Given the description of an element on the screen output the (x, y) to click on. 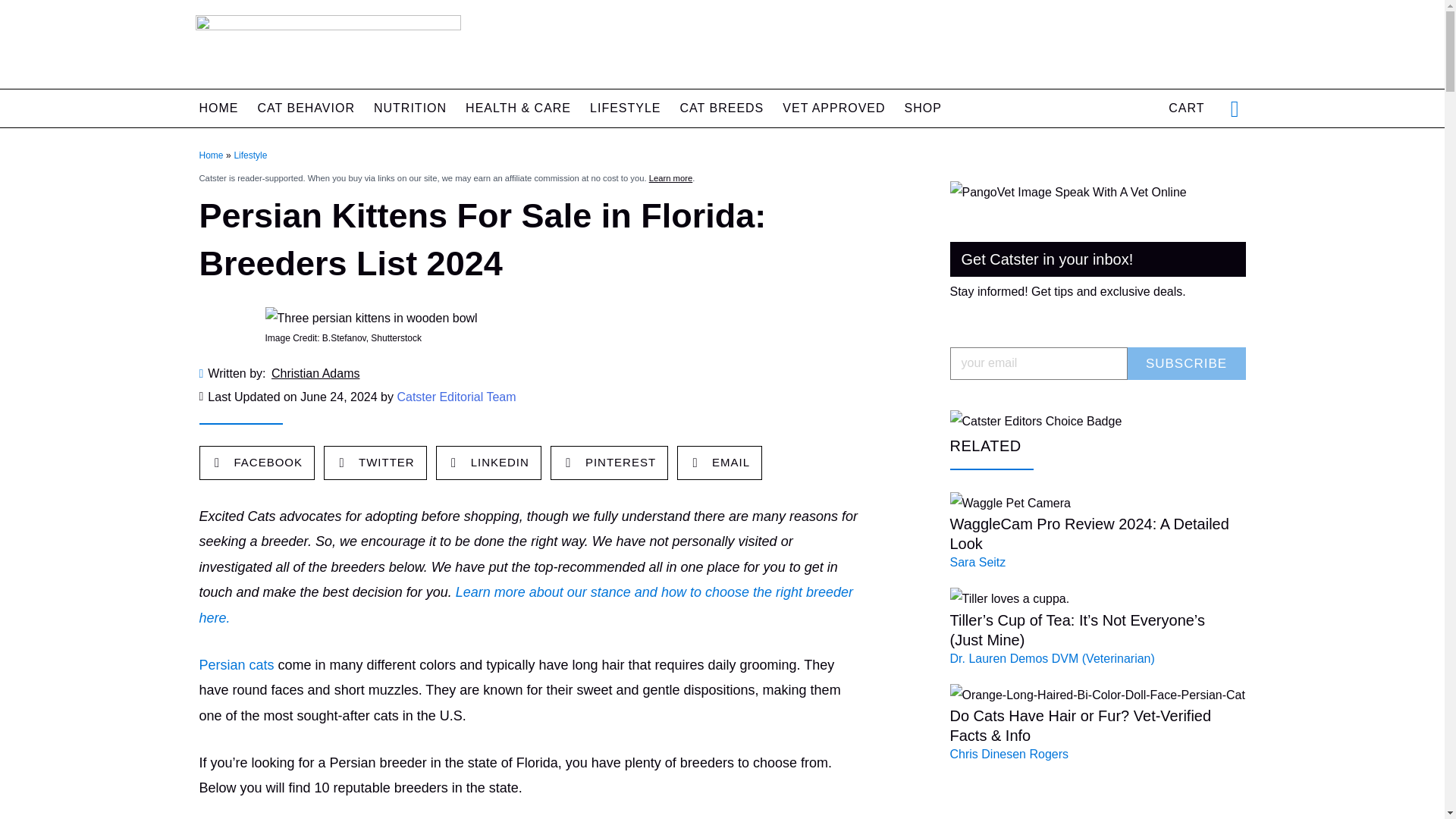
SHOP (923, 108)
Learn more (671, 177)
VET APPROVED (834, 108)
Lifestyle (249, 154)
CAT BEHAVIOR (306, 108)
Home (210, 154)
CAT BREEDS (721, 108)
CART (1186, 108)
NUTRITION (410, 108)
LIFESTYLE (625, 108)
